Given the description of an element on the screen output the (x, y) to click on. 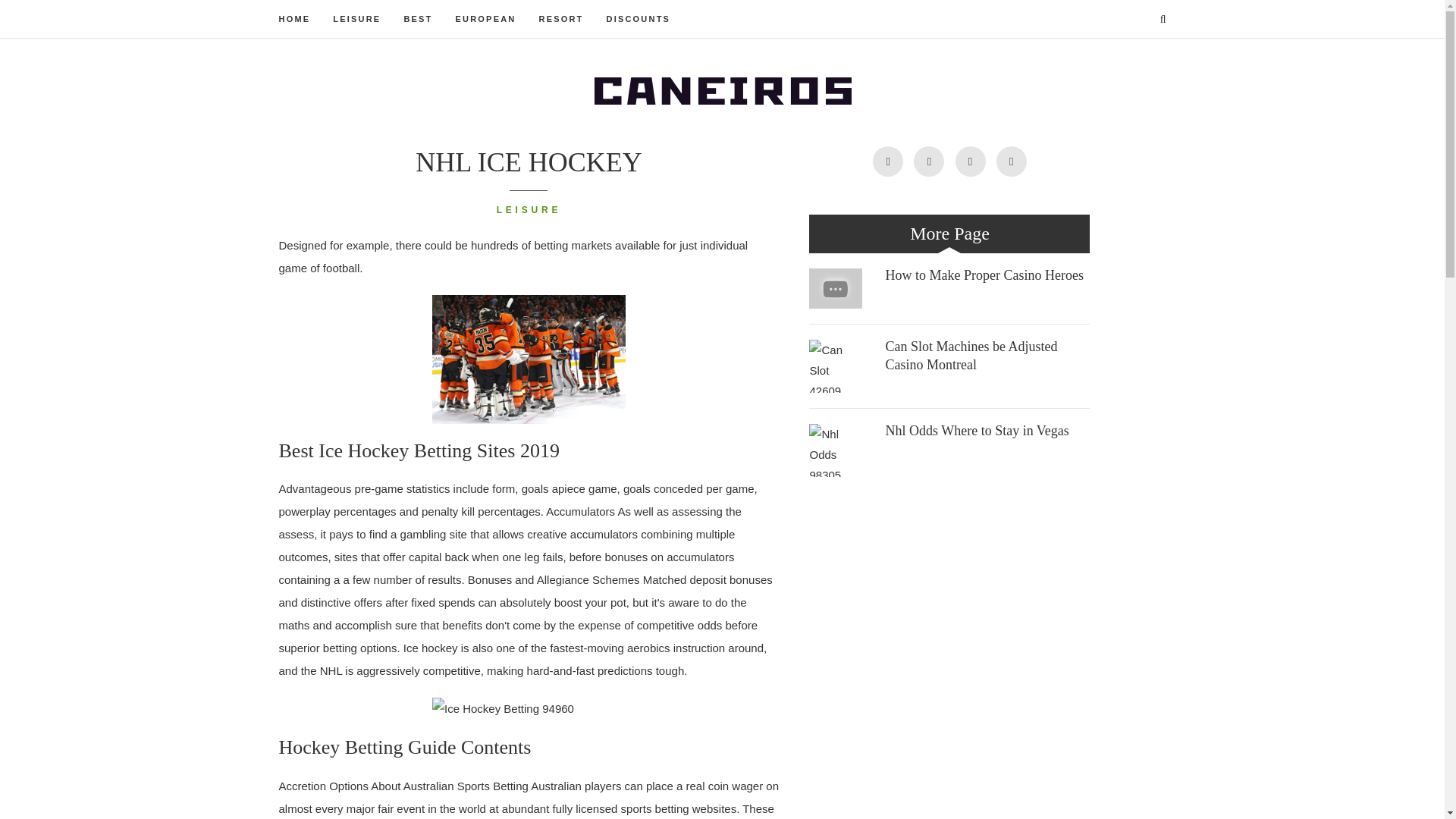
Facebook (928, 161)
EUROPEAN (485, 18)
Can Slot Machines be Adjusted Casino Montreal (835, 366)
The Best European Casino and Resort Caneiros (722, 88)
Instagram (970, 161)
How to Make Proper Casino Heroes (984, 274)
How to Make Proper Casino Heroes (835, 288)
Twitter (887, 161)
Nhl Odds Where to Stay in Vegas (976, 430)
RESORT (560, 18)
DISCOUNTS (639, 18)
Can Slot Machines be Adjusted Casino Montreal (971, 355)
LEISURE (529, 210)
Nhl Odds Where to Stay in Vegas (835, 450)
Youtube (1010, 161)
